Given the description of an element on the screen output the (x, y) to click on. 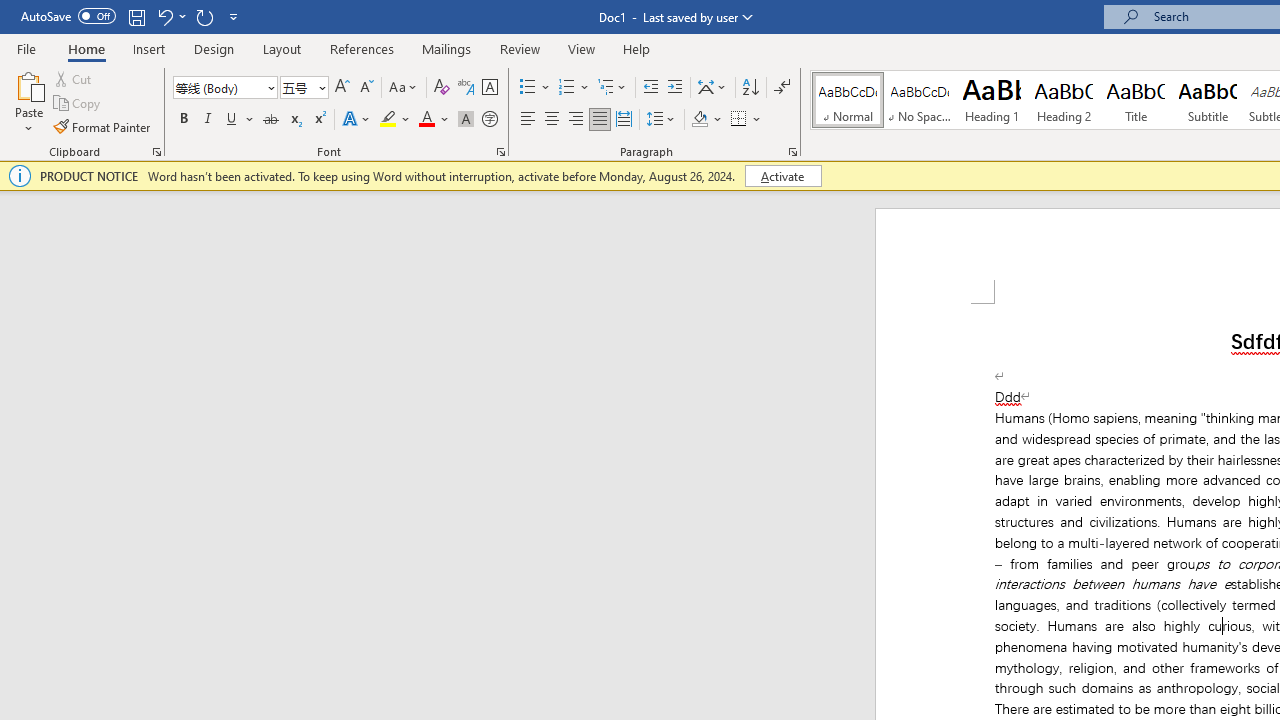
Activate (782, 175)
Heading 2 (1063, 100)
Font Color RGB(255, 0, 0) (426, 119)
